Given the description of an element on the screen output the (x, y) to click on. 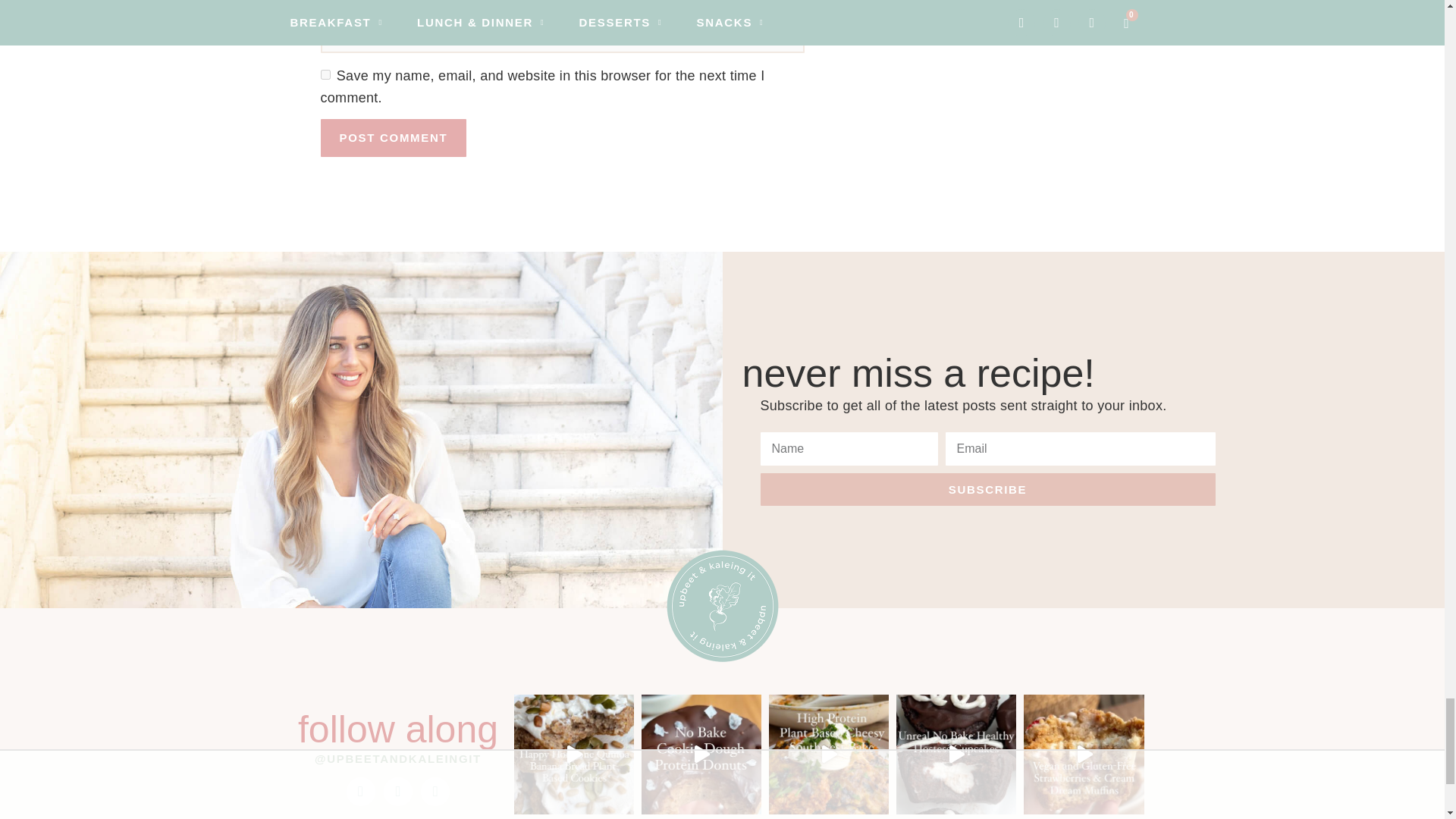
Post Comment (392, 138)
yes (325, 74)
